Given the description of an element on the screen output the (x, y) to click on. 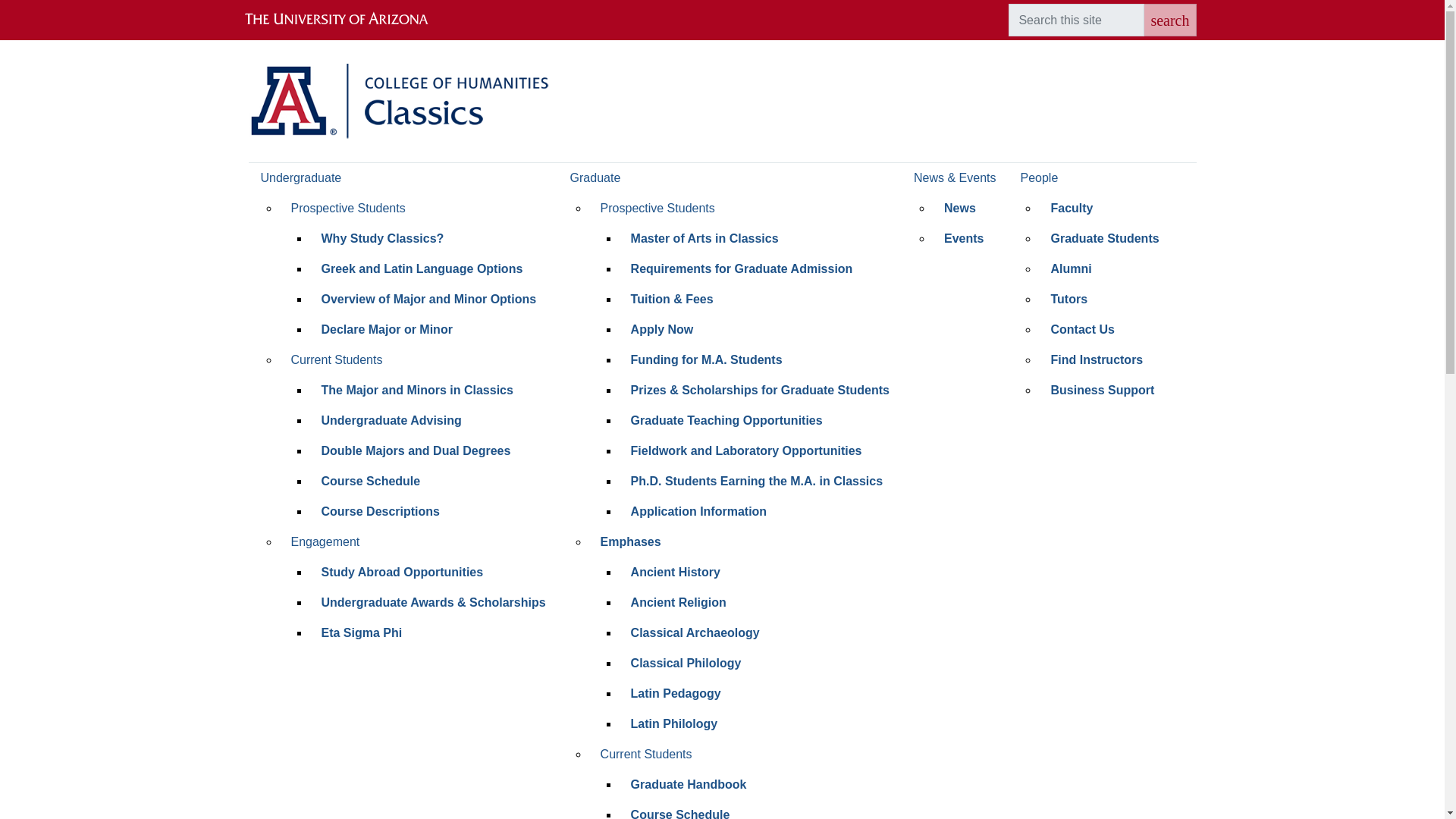
Emphases (744, 542)
Faculty (1104, 208)
Undergraduate Advising (432, 420)
Requirements for Graduate Admission (759, 268)
Skip to main content (721, 1)
Overview of Major and Minor Options (432, 299)
News (969, 208)
Master of Arts in Classics (759, 238)
Ph.D. Students Earning the M.A. in Classics (759, 481)
Latin Philology (759, 724)
